Given the description of an element on the screen output the (x, y) to click on. 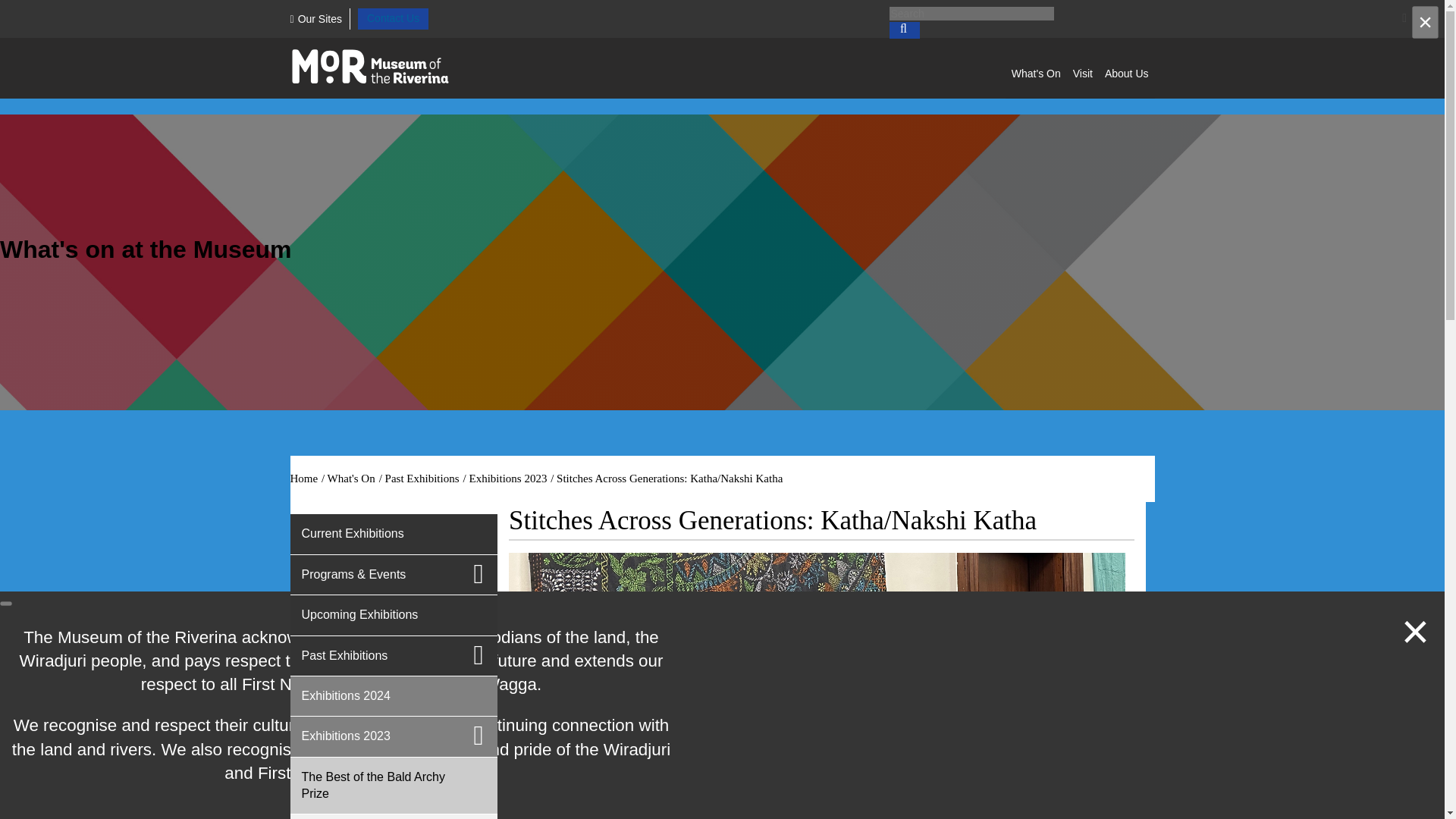
City of Wagga Wagga (384, 67)
What's On (1036, 73)
Search button (903, 30)
Our Sites (314, 19)
Search (970, 13)
About Us (1126, 73)
Contact Us (393, 18)
